Given the description of an element on the screen output the (x, y) to click on. 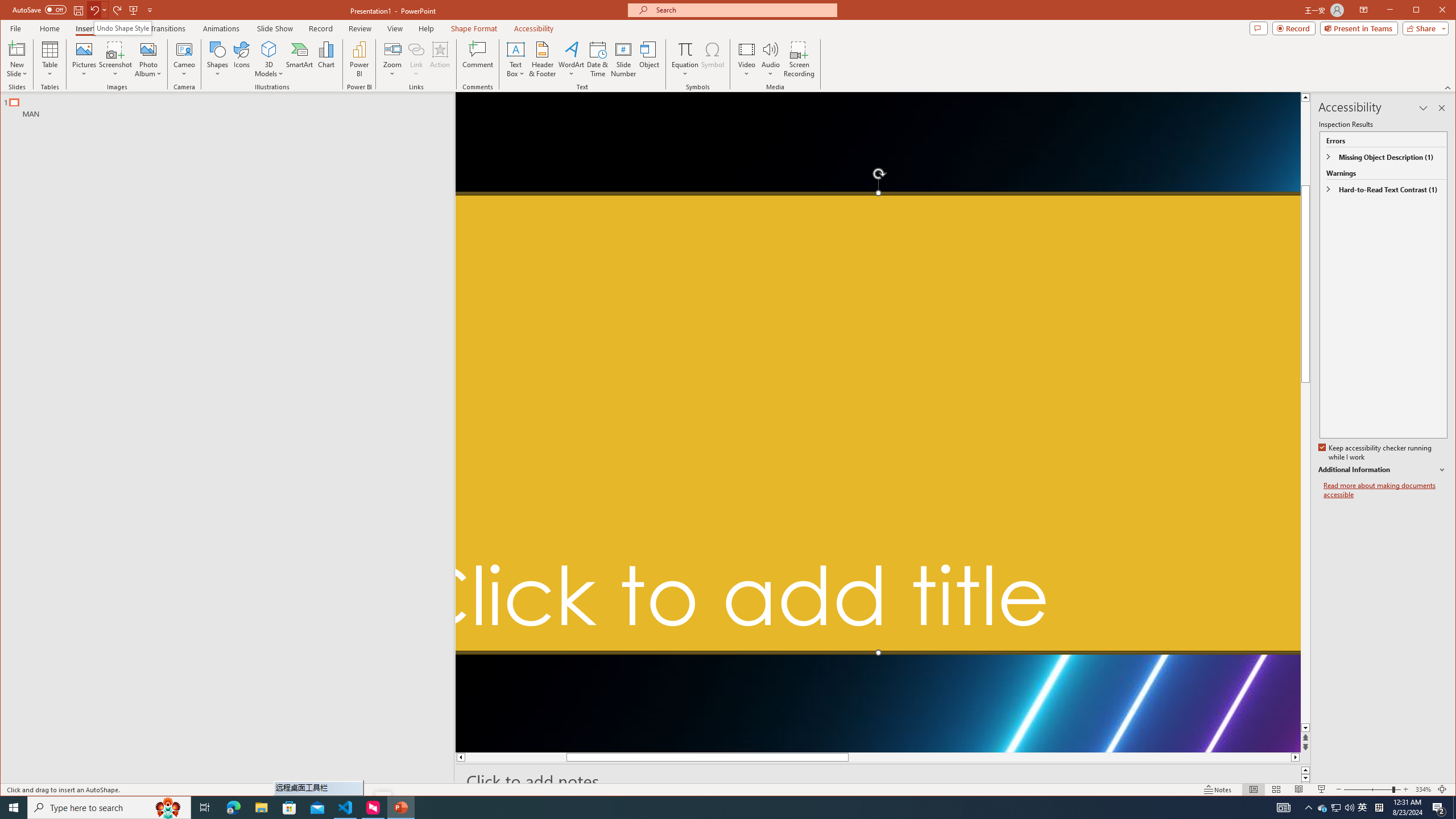
Save (77, 9)
Class: MsoCommandBar (1335, 807)
File Explorer (728, 789)
Minimize (261, 807)
Comment (1419, 11)
Microsoft search (478, 59)
AutomationID: 4105 (1362, 807)
New Slide (742, 10)
Microsoft Edge (1283, 807)
Equation (17, 48)
Text Box (233, 807)
